Given the description of an element on the screen output the (x, y) to click on. 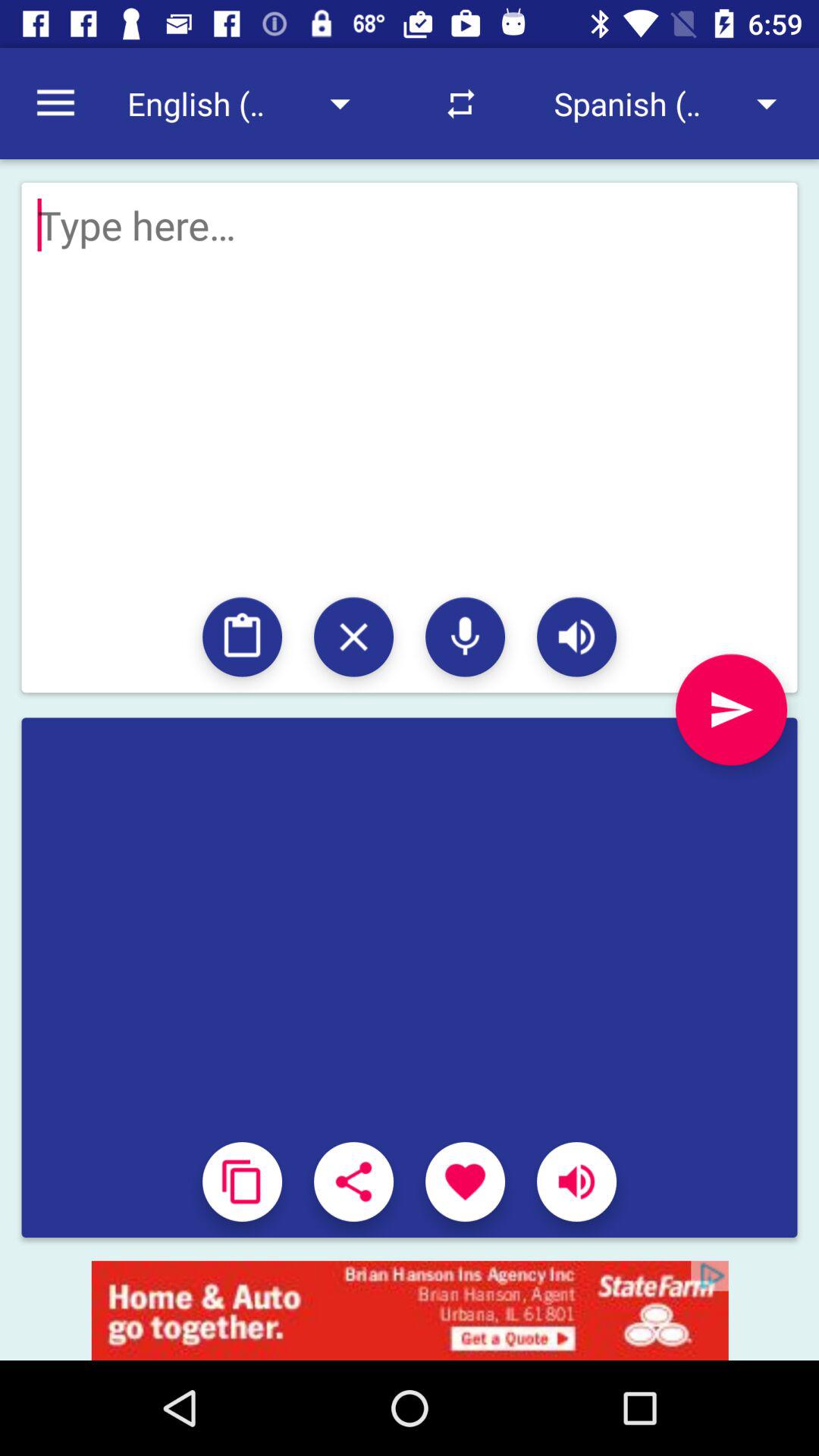
go to music on (576, 1181)
